Given the description of an element on the screen output the (x, y) to click on. 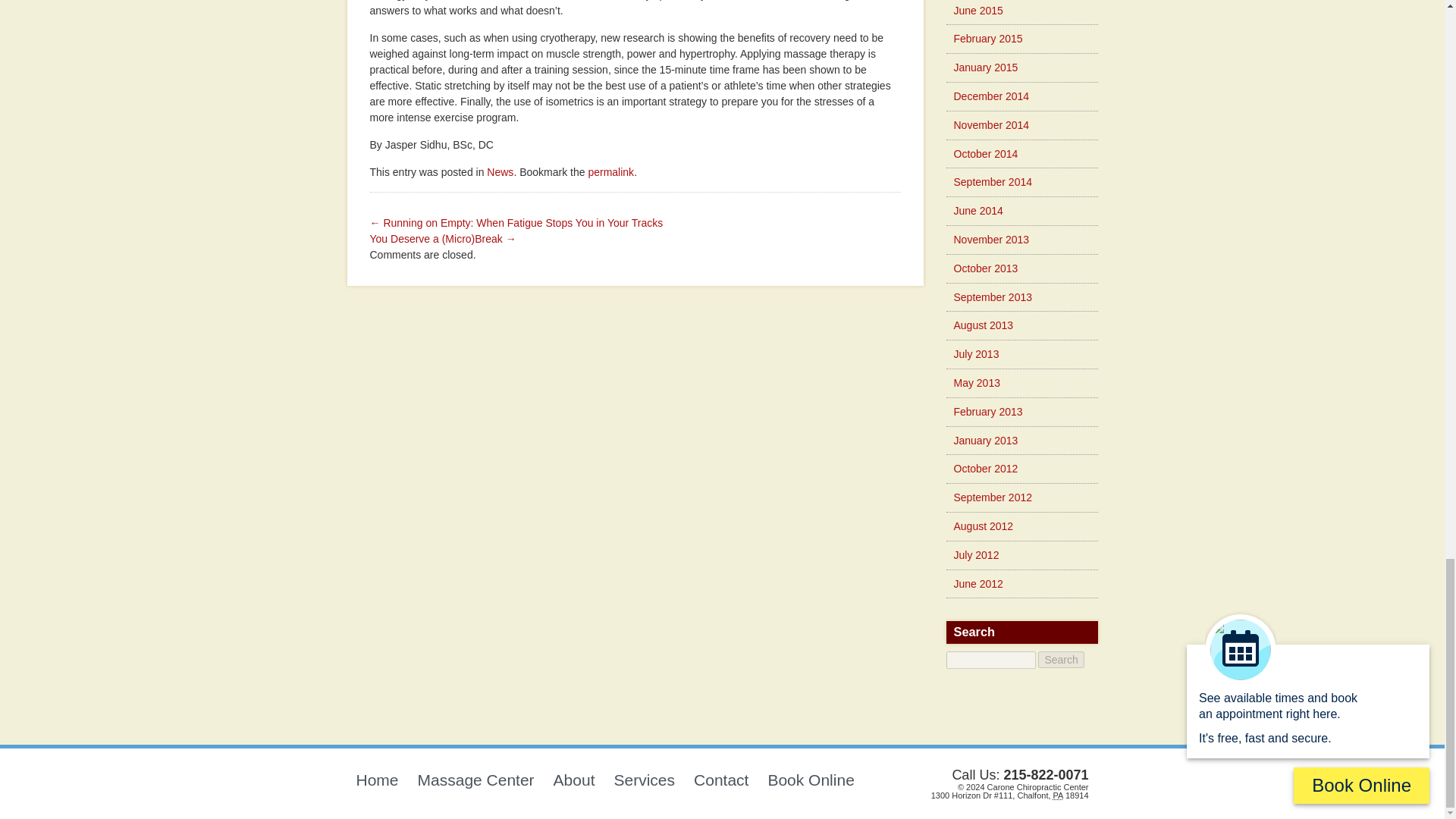
Pennsylvania (1057, 795)
Search (1060, 659)
News (499, 172)
permalink (610, 172)
